Given the description of an element on the screen output the (x, y) to click on. 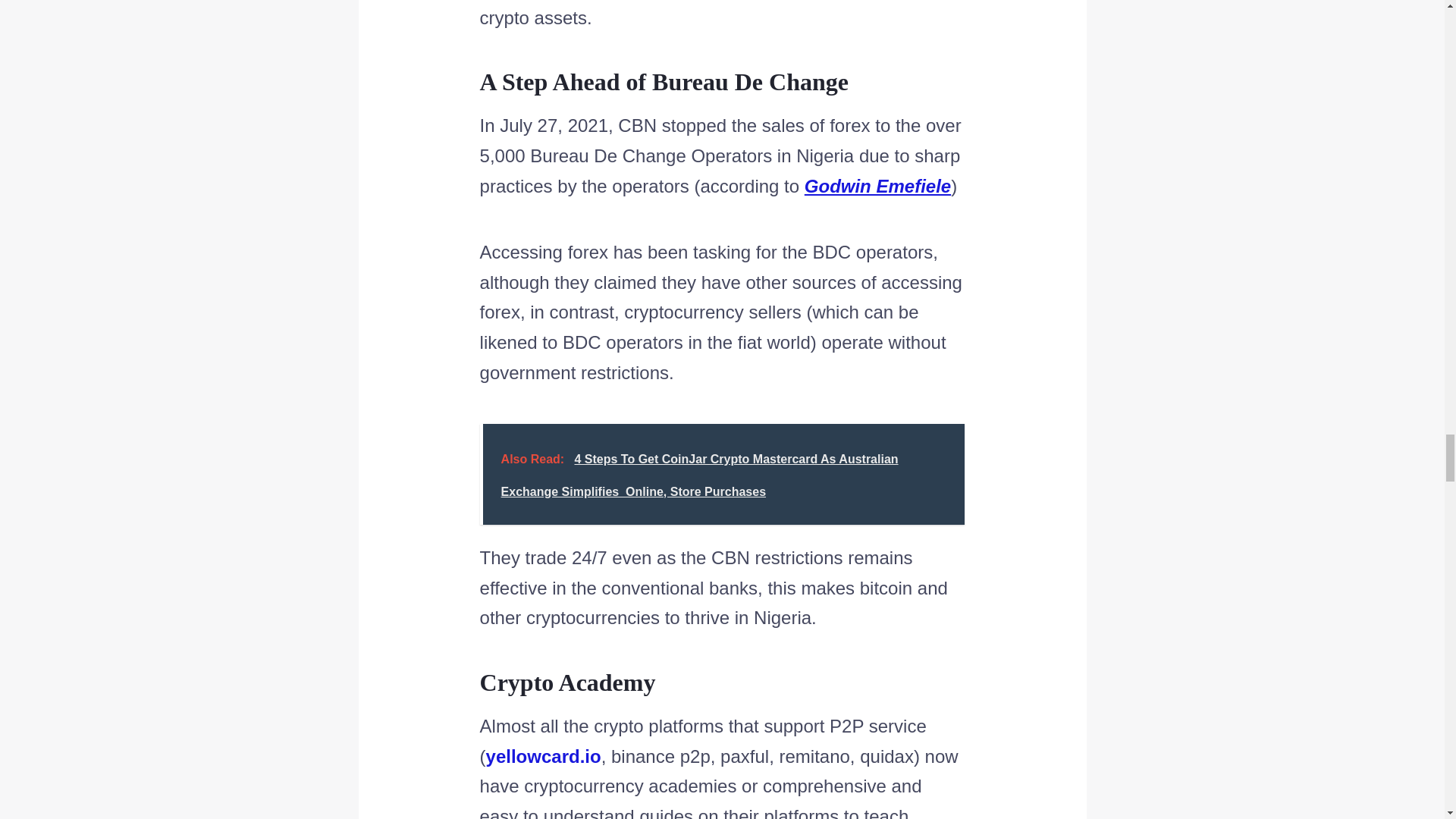
yellowcard.io (543, 756)
Godwin Emefiele (877, 186)
